Given the description of an element on the screen output the (x, y) to click on. 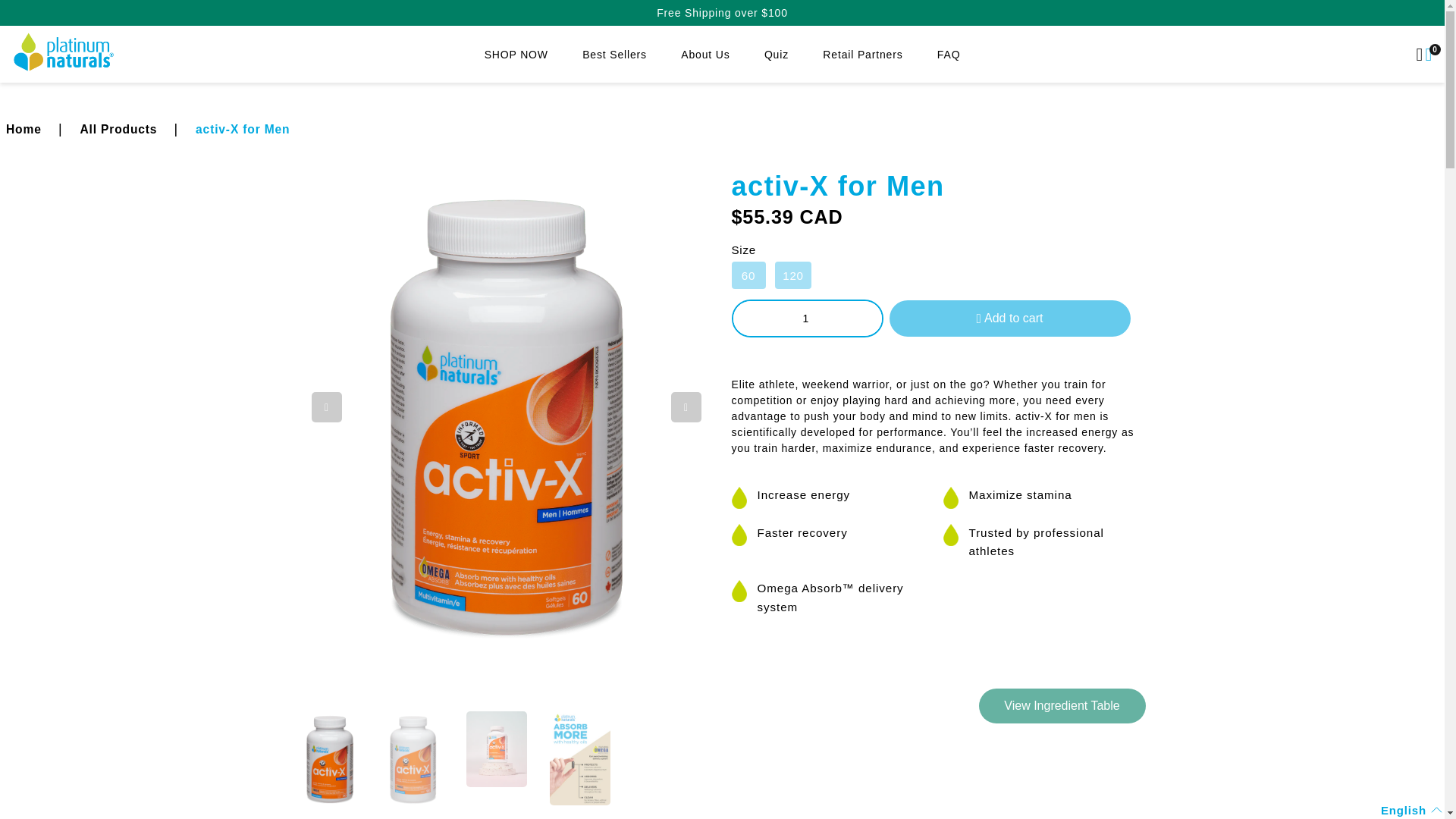
SHOP NOW (516, 54)
FAQ (948, 54)
Quiz (776, 54)
1 (805, 318)
About Us (705, 54)
Retail Partners (862, 54)
Best Sellers (614, 54)
Home (23, 128)
